Given the description of an element on the screen output the (x, y) to click on. 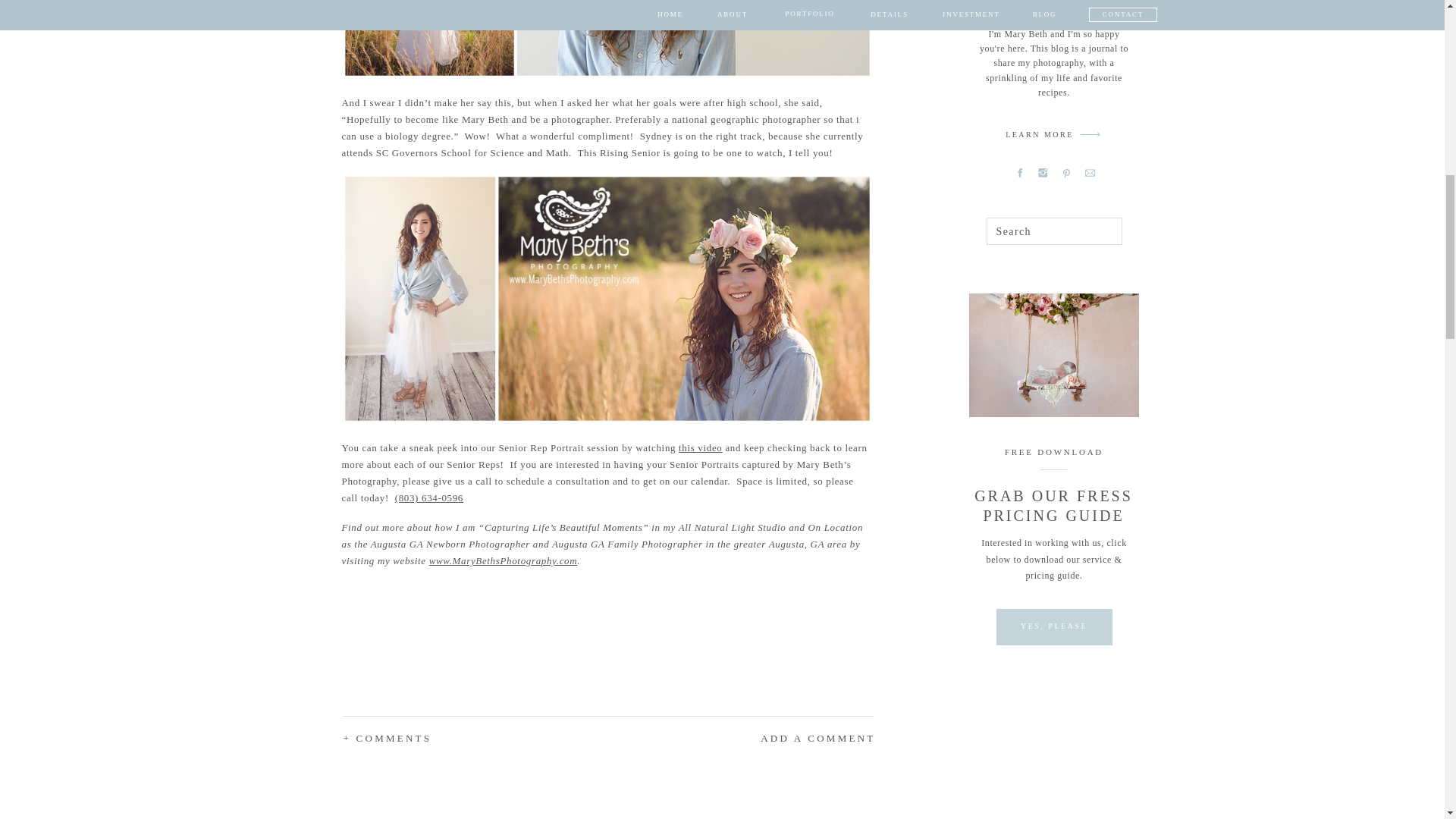
this video (700, 447)
YES, PLEASE (1053, 626)
arrow (1089, 134)
LEARN MORE (1039, 136)
ADD A COMMENT (776, 738)
www.MaryBethsPhotography.com (503, 560)
arrow (1089, 134)
